Given the description of an element on the screen output the (x, y) to click on. 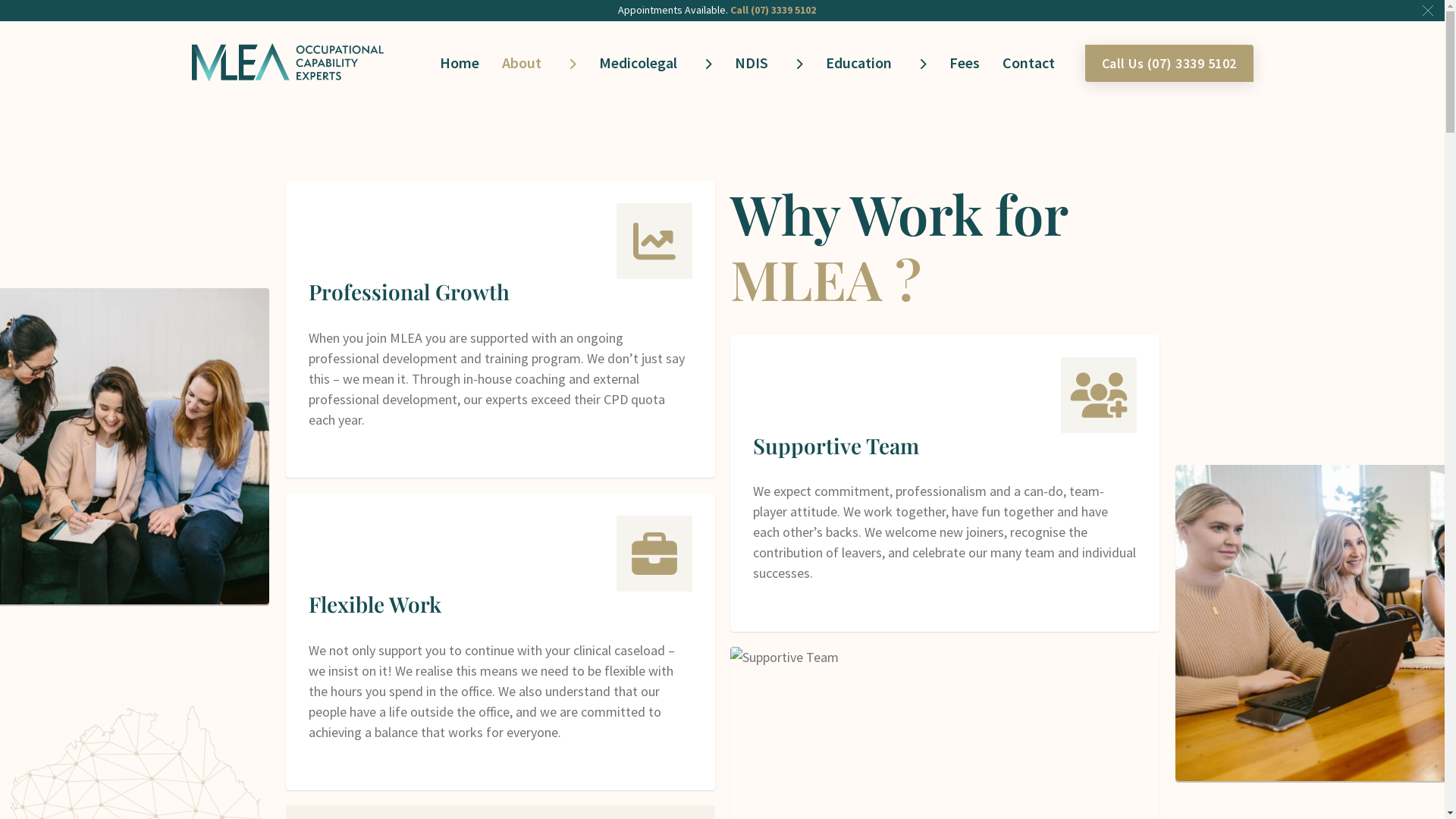
Call (07) 3339 5102 Element type: text (772, 9)
Call Us (07) 3339 5102 Element type: text (1168, 62)
NDIS Element type: text (754, 62)
Fees Element type: text (967, 62)
MLEA Occupational Capability Experts Element type: hover (288, 60)
About Element type: text (525, 62)
Home Element type: text (463, 62)
Contact Element type: text (1032, 62)
Education Element type: text (861, 62)
Medicolegal Element type: text (641, 62)
